Given the description of an element on the screen output the (x, y) to click on. 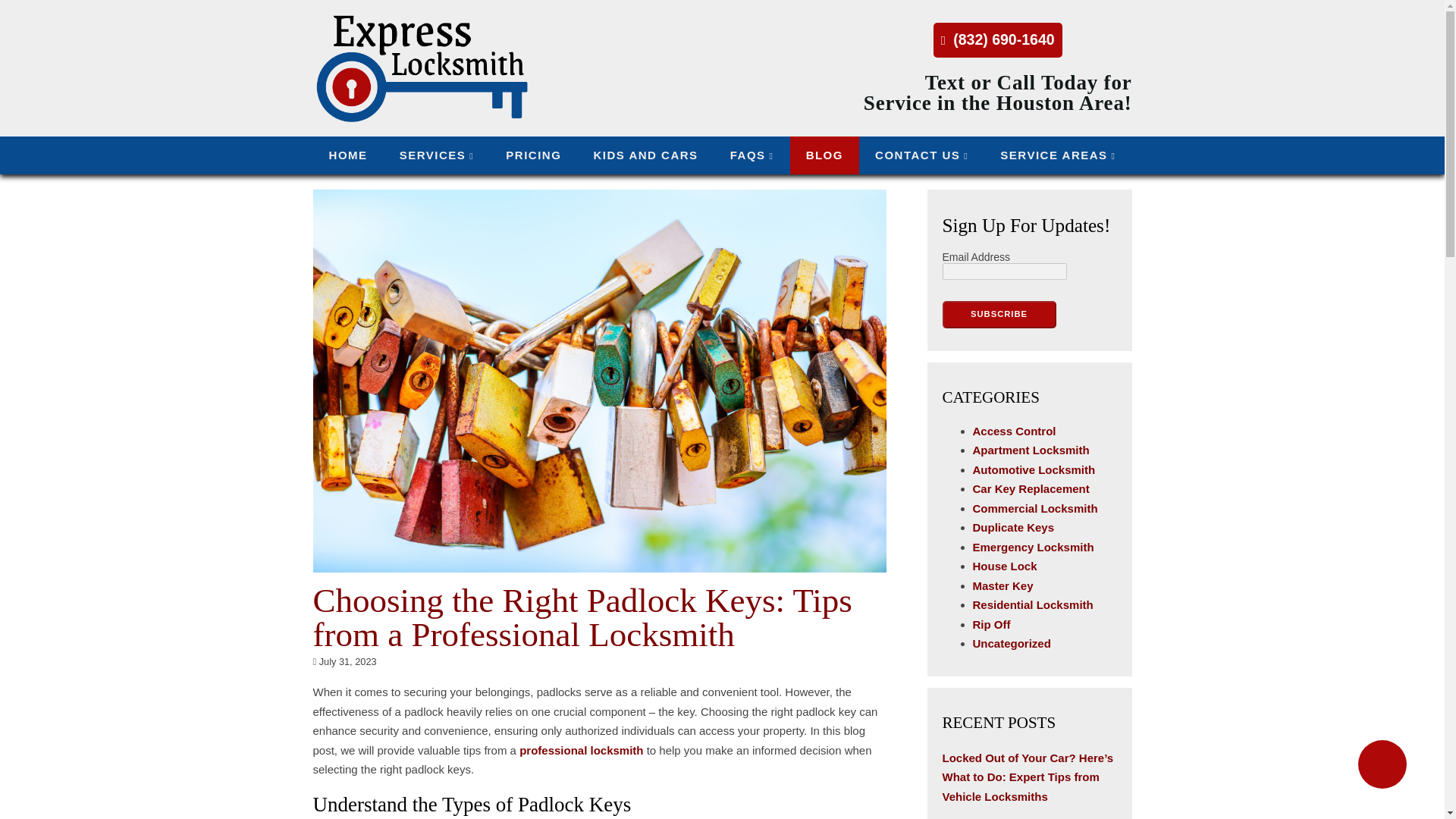
Pricing (532, 155)
FAQS (752, 155)
SERVICES (437, 155)
KIDS AND CARS (644, 155)
Subscribe (998, 314)
FAQs (752, 155)
Services (437, 155)
Blog (824, 155)
HOME (347, 155)
Home (347, 155)
Contact Us (921, 155)
PRICING (532, 155)
Kids and Cars (644, 155)
